Given the description of an element on the screen output the (x, y) to click on. 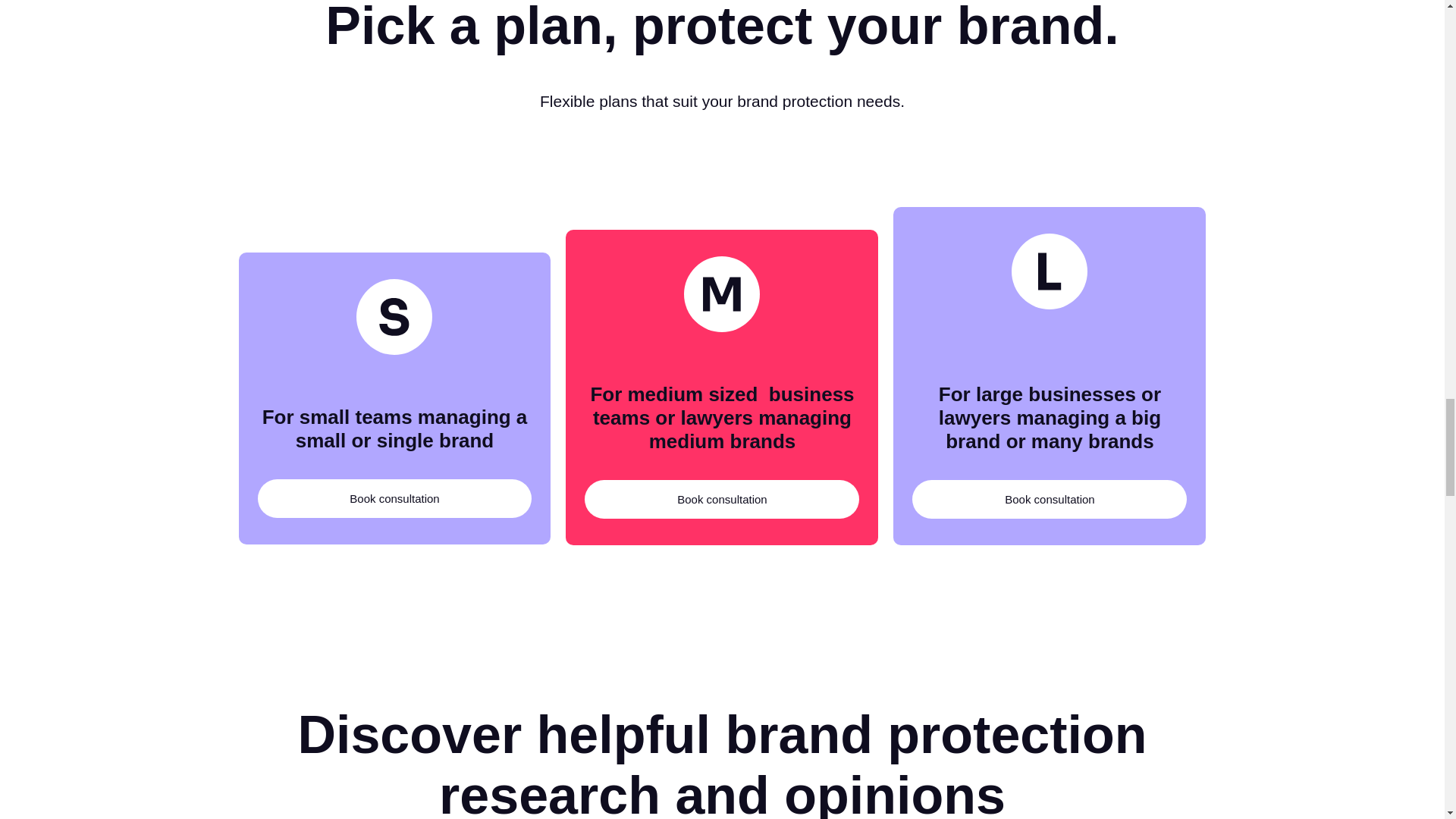
Book consultation (1049, 498)
Book consultation (394, 498)
Book consultation (722, 498)
